Given the description of an element on the screen output the (x, y) to click on. 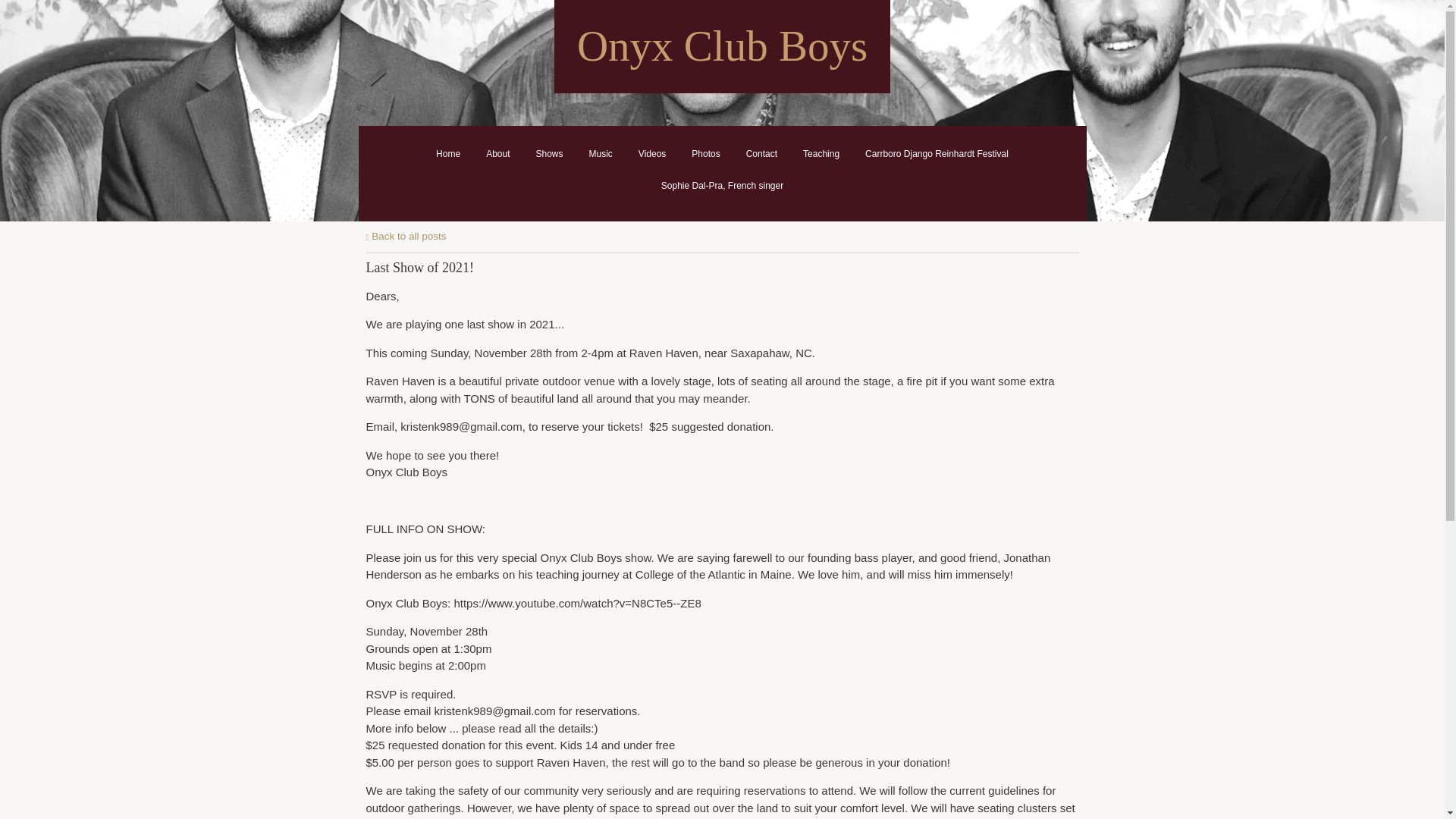
Home (447, 153)
About (497, 153)
Onyx Club Boys (721, 53)
Teaching (820, 153)
Contact (761, 153)
Photos (705, 153)
Sophie Dal-Pra, French singer (722, 185)
Shows (548, 153)
Videos (651, 153)
Carrboro Django Reinhardt Festival (936, 153)
Music (600, 153)
Back to all posts (405, 235)
